Given the description of an element on the screen output the (x, y) to click on. 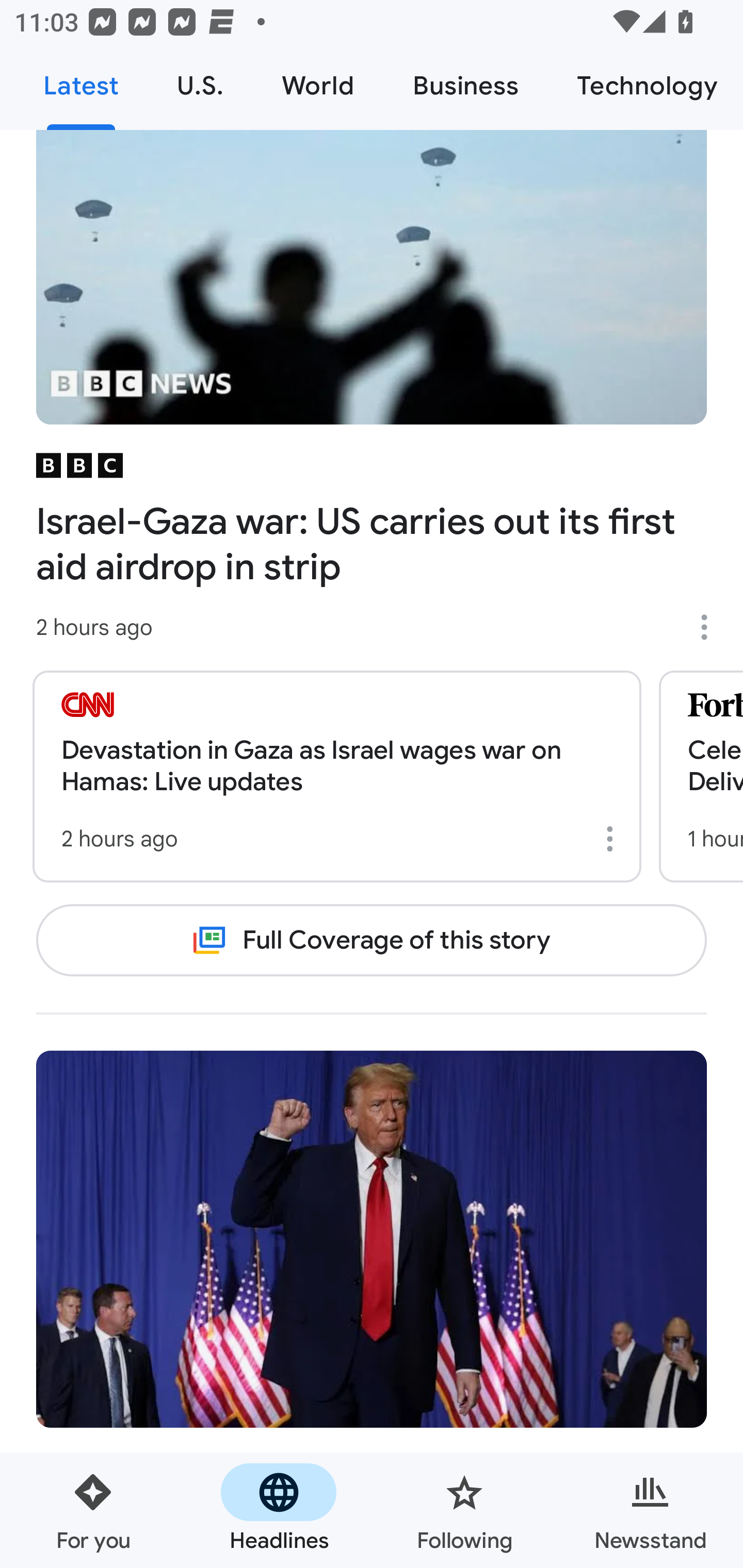
U.S. (199, 86)
World (317, 86)
Business (465, 86)
Technology (645, 86)
More options (711, 627)
More options (613, 838)
Full Coverage of this story (371, 940)
For you (92, 1509)
Headlines (278, 1509)
Following (464, 1509)
Newsstand (650, 1509)
